Given the description of an element on the screen output the (x, y) to click on. 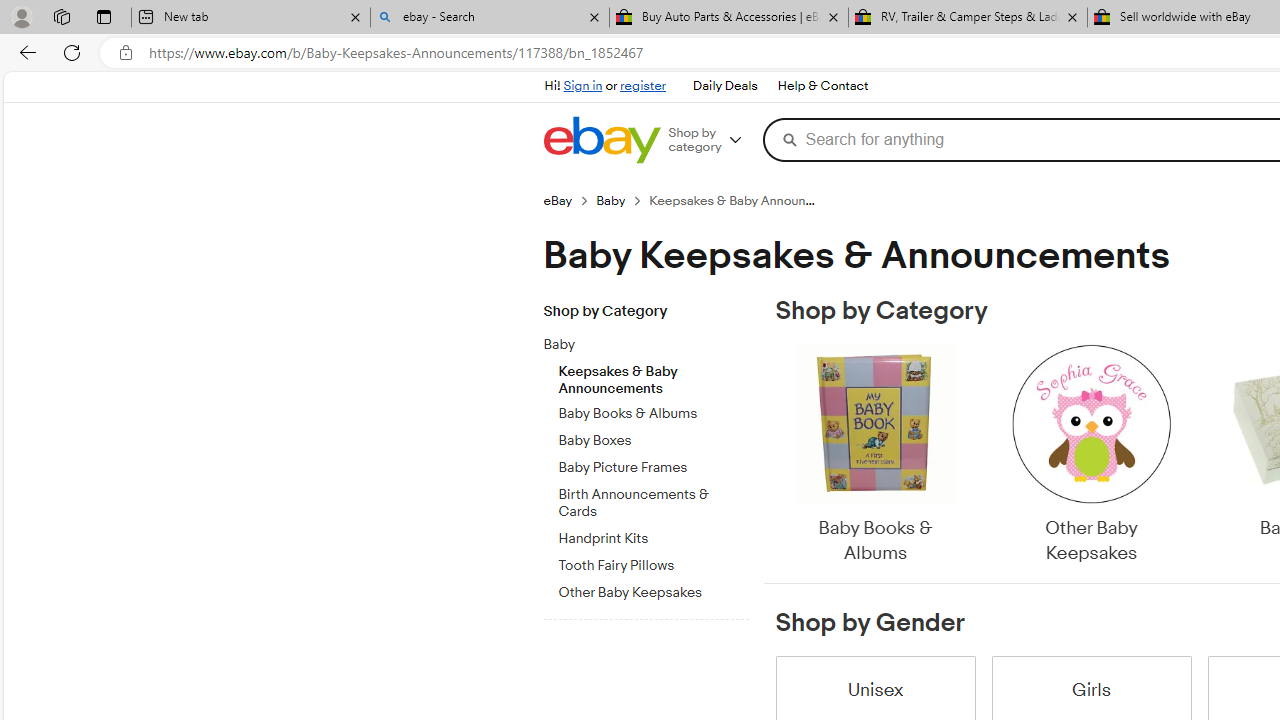
Daily Deals (724, 85)
Other Baby Keepsakes (1090, 455)
Baby Books & Albums (874, 455)
Baby Boxes (653, 437)
Baby Picture Frames (653, 468)
ebay - Search (490, 17)
Shop by category (711, 140)
Handprint Kits (653, 535)
Baby (637, 345)
Help & Contact (822, 86)
Baby (653, 341)
